Given the description of an element on the screen output the (x, y) to click on. 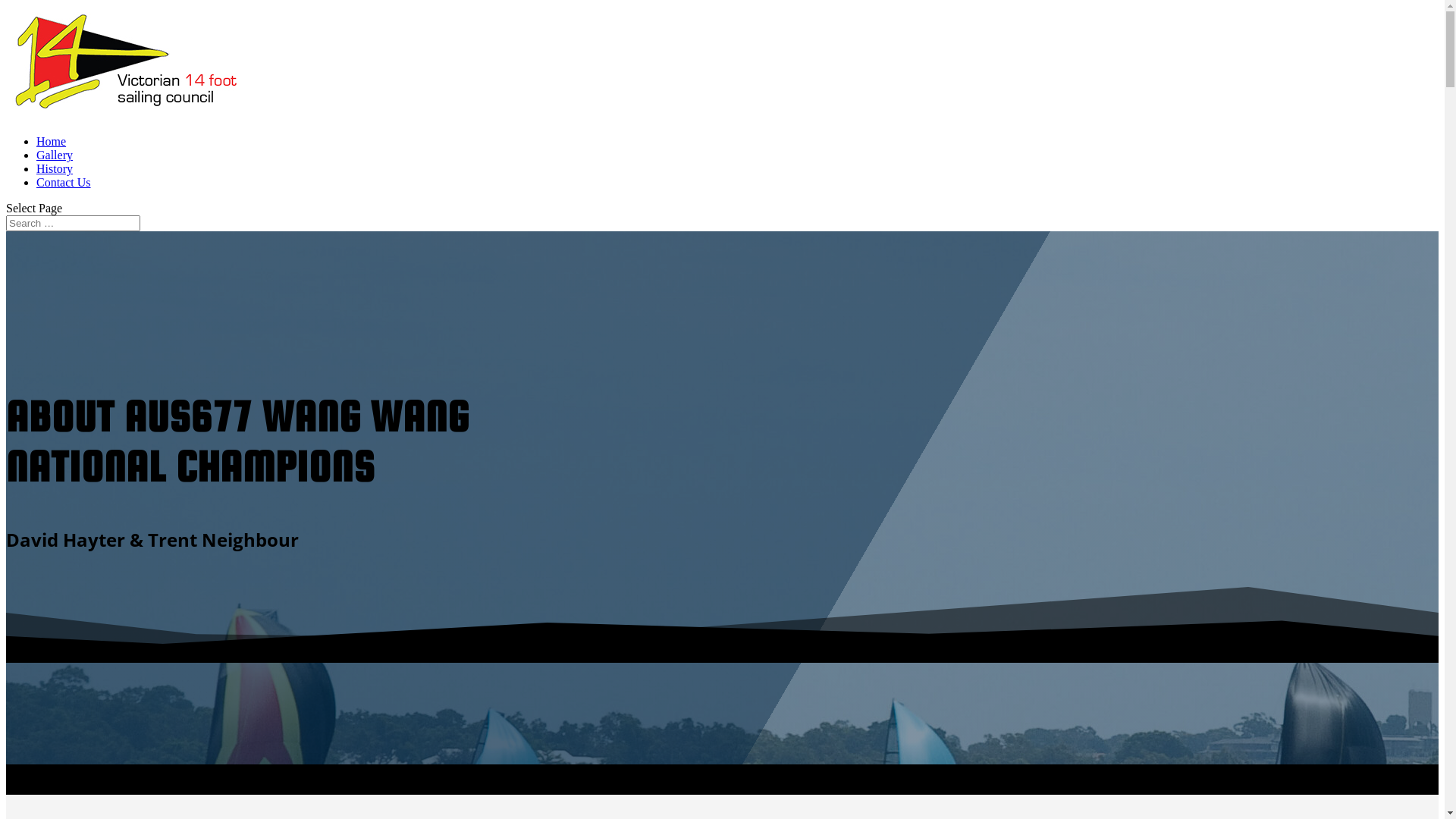
Gallery Element type: text (54, 154)
Home Element type: text (50, 140)
History Element type: text (54, 168)
Search for: Element type: hover (73, 223)
Contact Us Element type: text (63, 181)
